Given the description of an element on the screen output the (x, y) to click on. 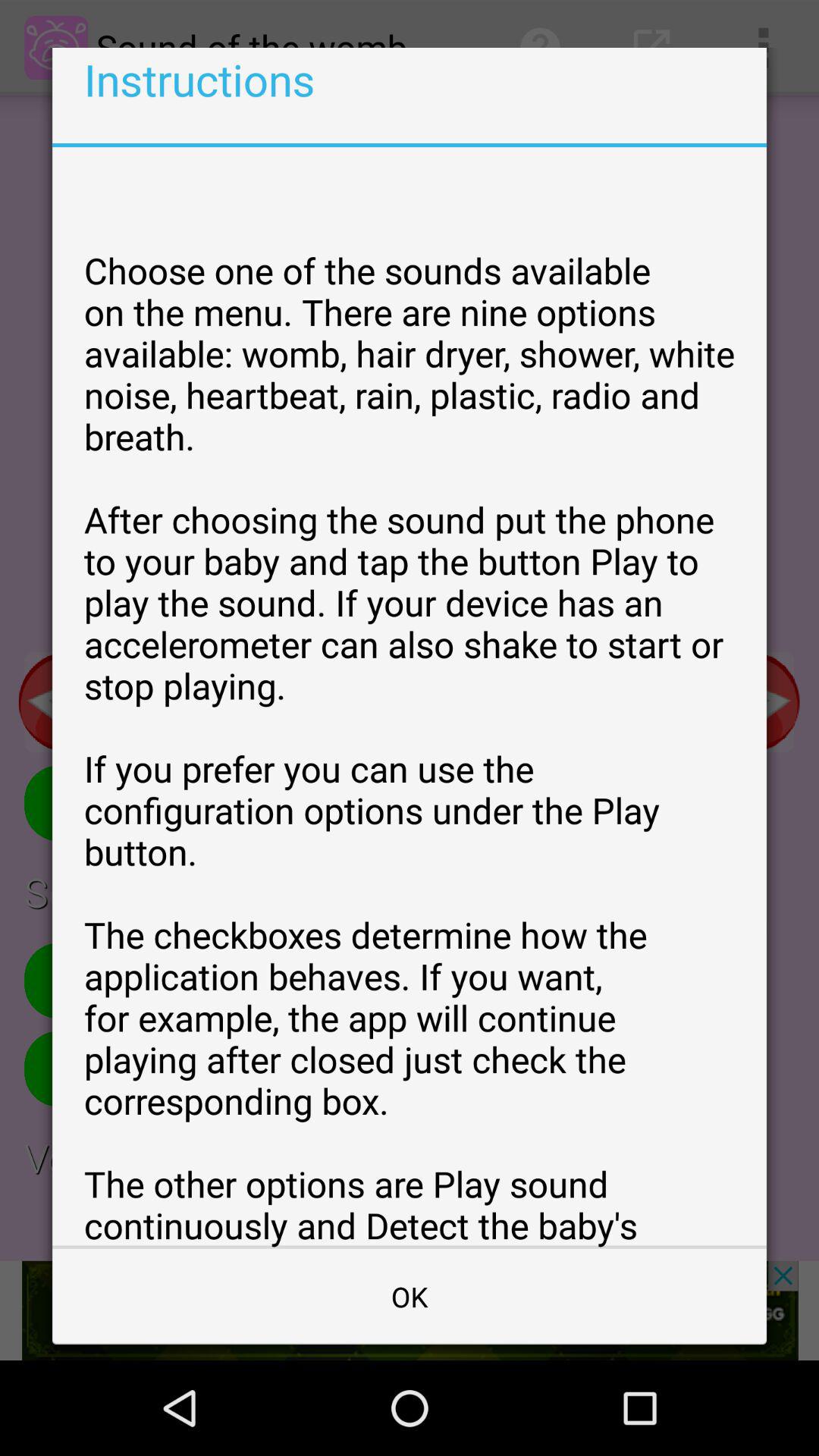
choose the app below the choose one of item (409, 1296)
